Given the description of an element on the screen output the (x, y) to click on. 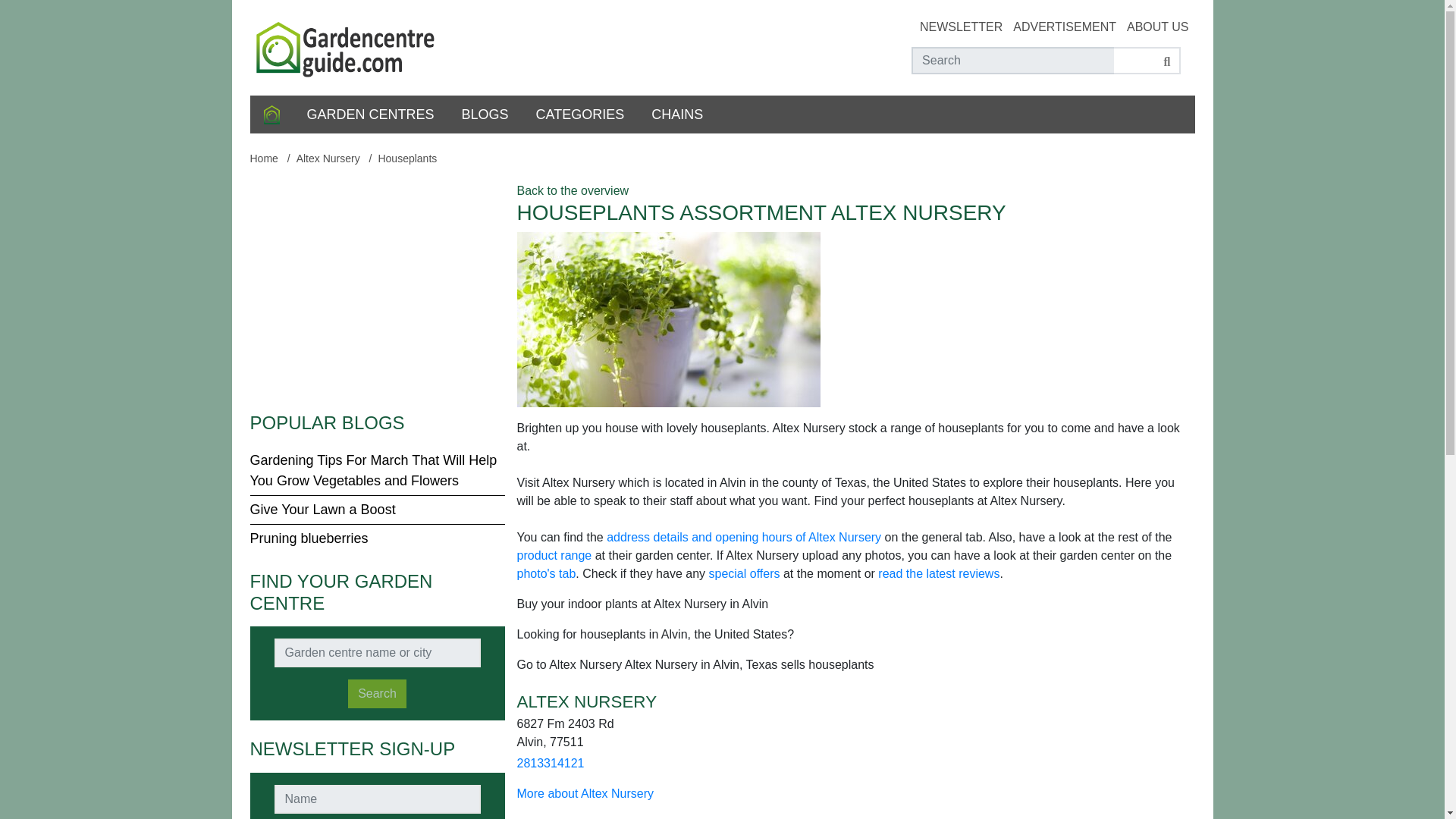
Blogs (485, 114)
Chains (676, 114)
Search (376, 693)
More about Altex Nursery (584, 793)
NEWSLETTER (961, 27)
Newsletter (961, 27)
Altex Nursery (328, 158)
Altex Nursery (328, 158)
2813314121 (550, 763)
Give Your Lawn a Boost (323, 509)
Garden Center Guide (347, 46)
special offers (742, 573)
Home (272, 114)
Back to the overview (572, 190)
Advertisement (1064, 27)
